Given the description of an element on the screen output the (x, y) to click on. 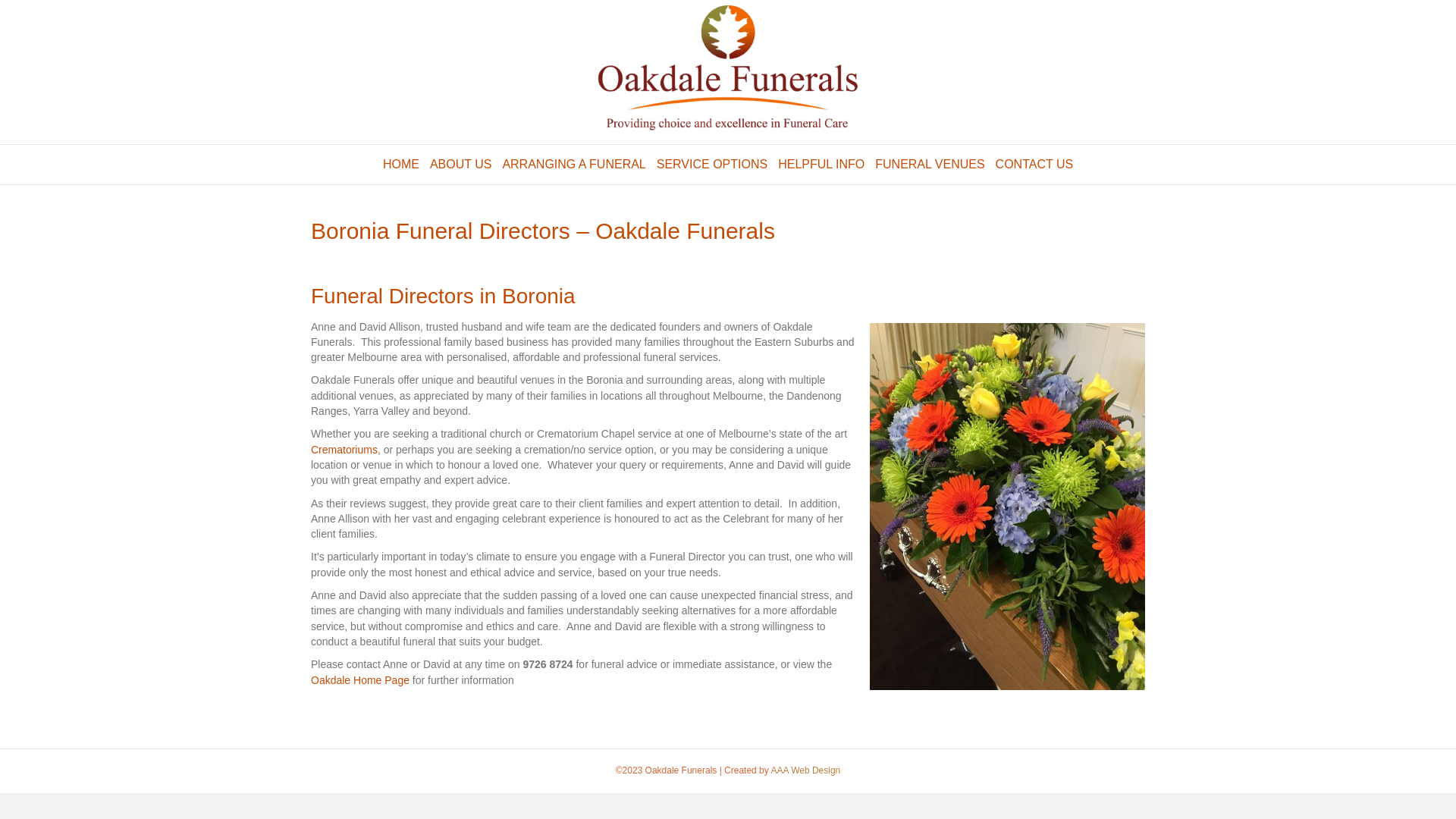
ARRANGING A FUNERAL Element type: text (573, 164)
ABOUT US Element type: text (460, 164)
Crematoriums Element type: text (343, 449)
FUNERAL VENUES Element type: text (929, 164)
HOME Element type: text (400, 164)
HELPFUL INFO Element type: text (820, 164)
SERVICE OPTIONS Element type: text (711, 164)
AAA Web Design Element type: text (805, 770)
CONTACT US Element type: text (1034, 164)
Oakdale Home Page Element type: text (359, 680)
